Given the description of an element on the screen output the (x, y) to click on. 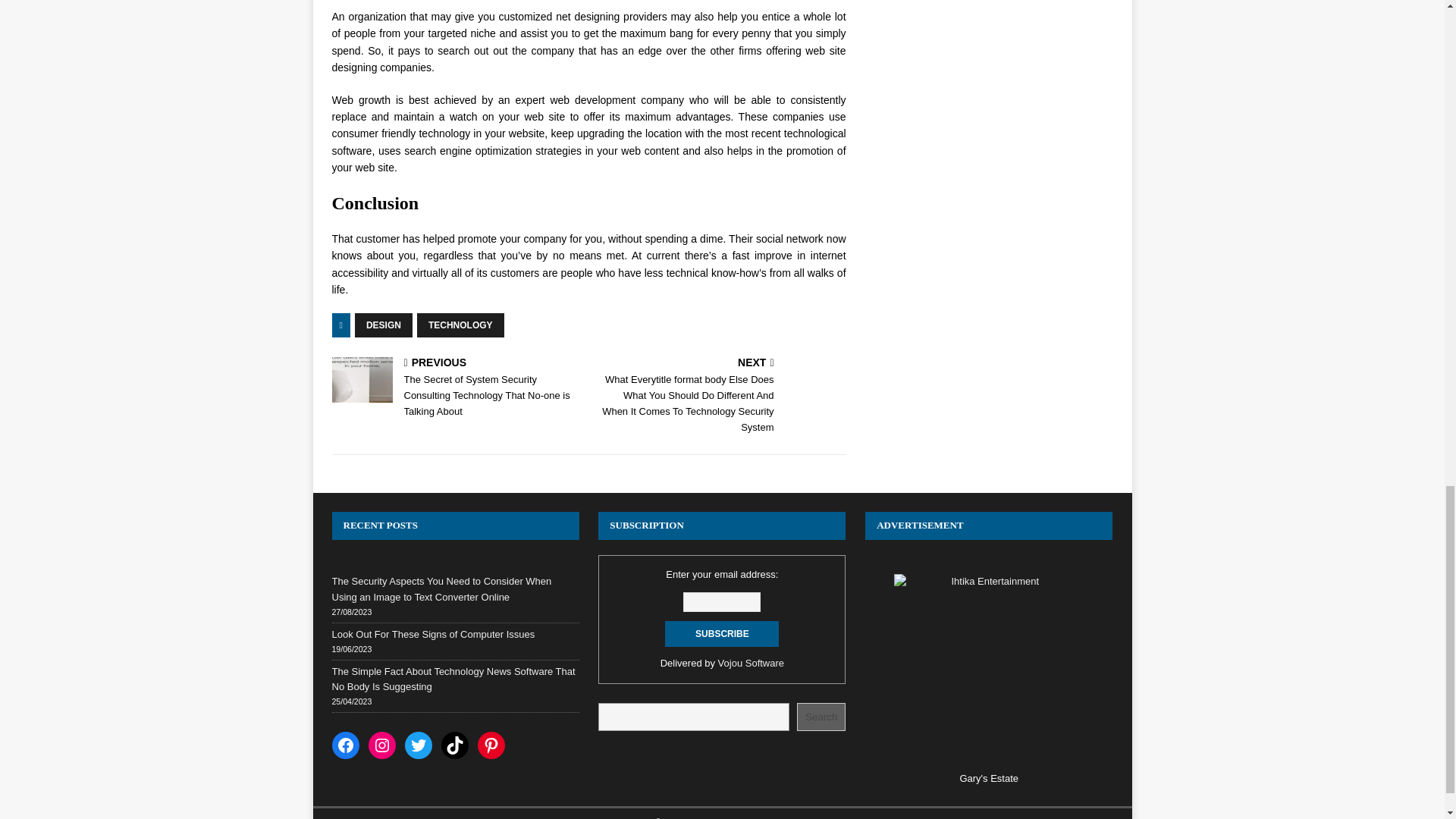
TECHNOLOGY (459, 324)
Subscribe (721, 633)
DESIGN (383, 324)
